Given the description of an element on the screen output the (x, y) to click on. 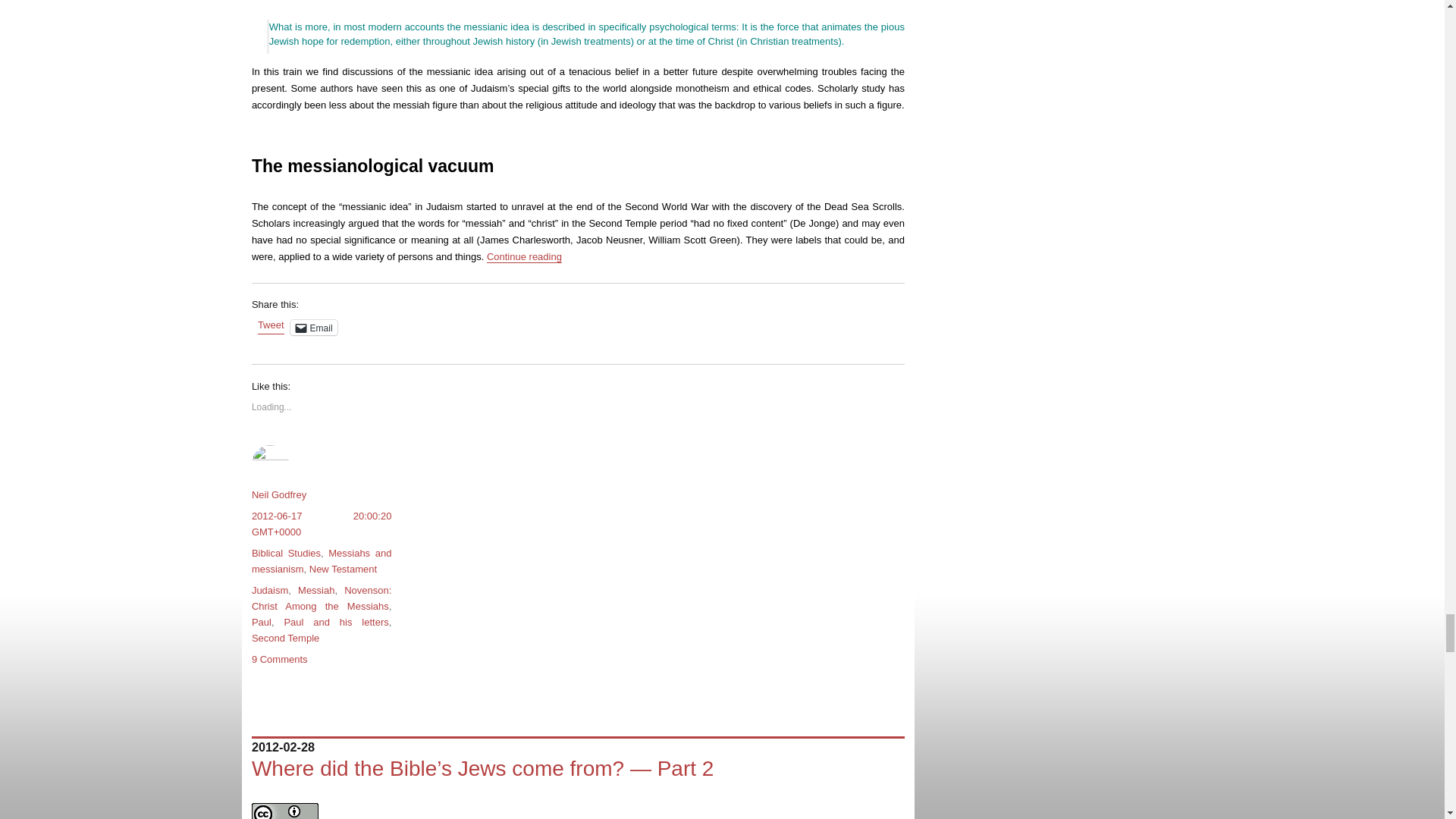
Click to email a link to a friend (313, 327)
